Given the description of an element on the screen output the (x, y) to click on. 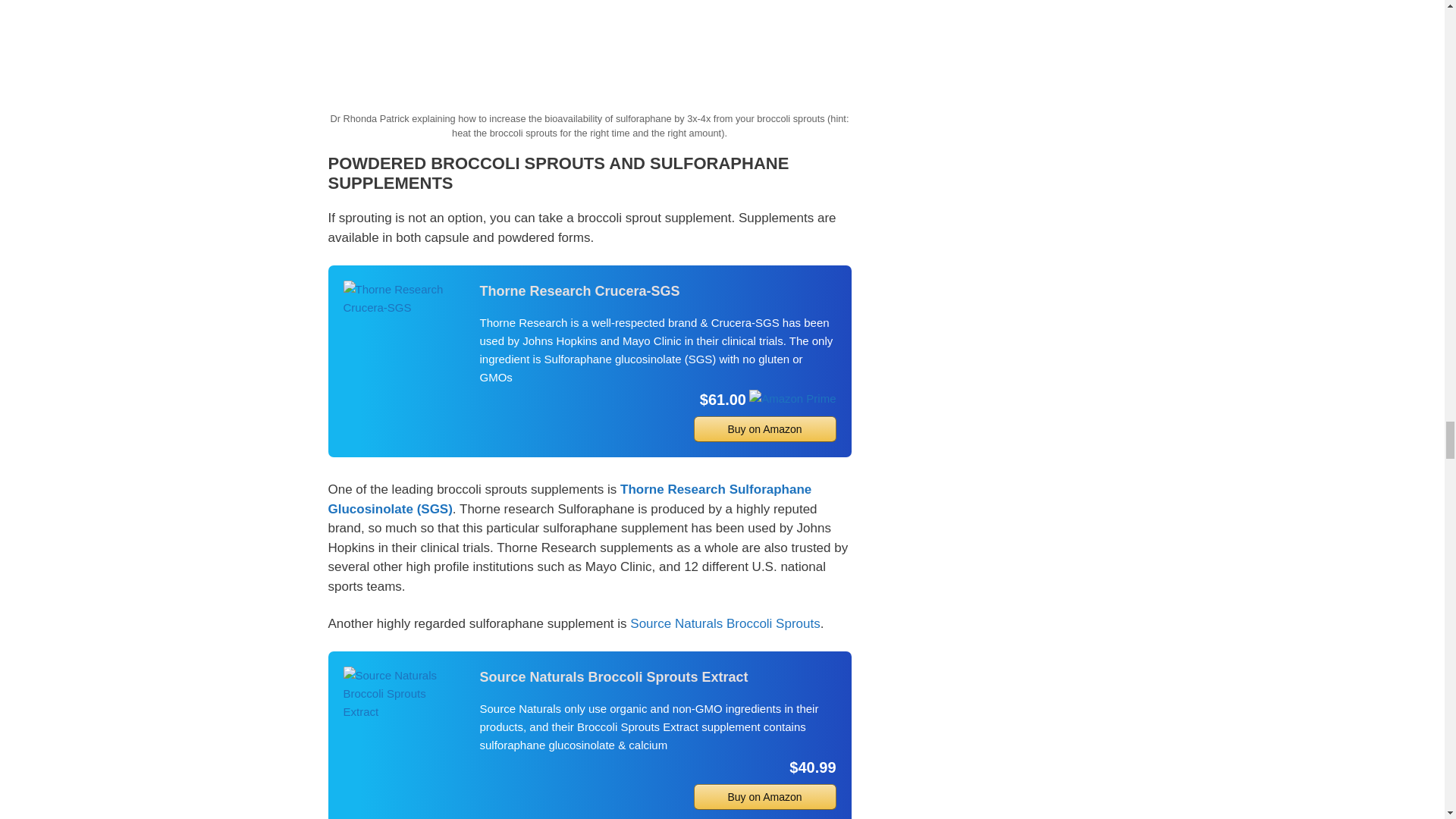
Amazon Prime (792, 398)
Thorne Research Crucera-SGS (403, 298)
Buy on Amazon (764, 429)
Thorne Research Crucera-SGS (657, 291)
